Given the description of an element on the screen output the (x, y) to click on. 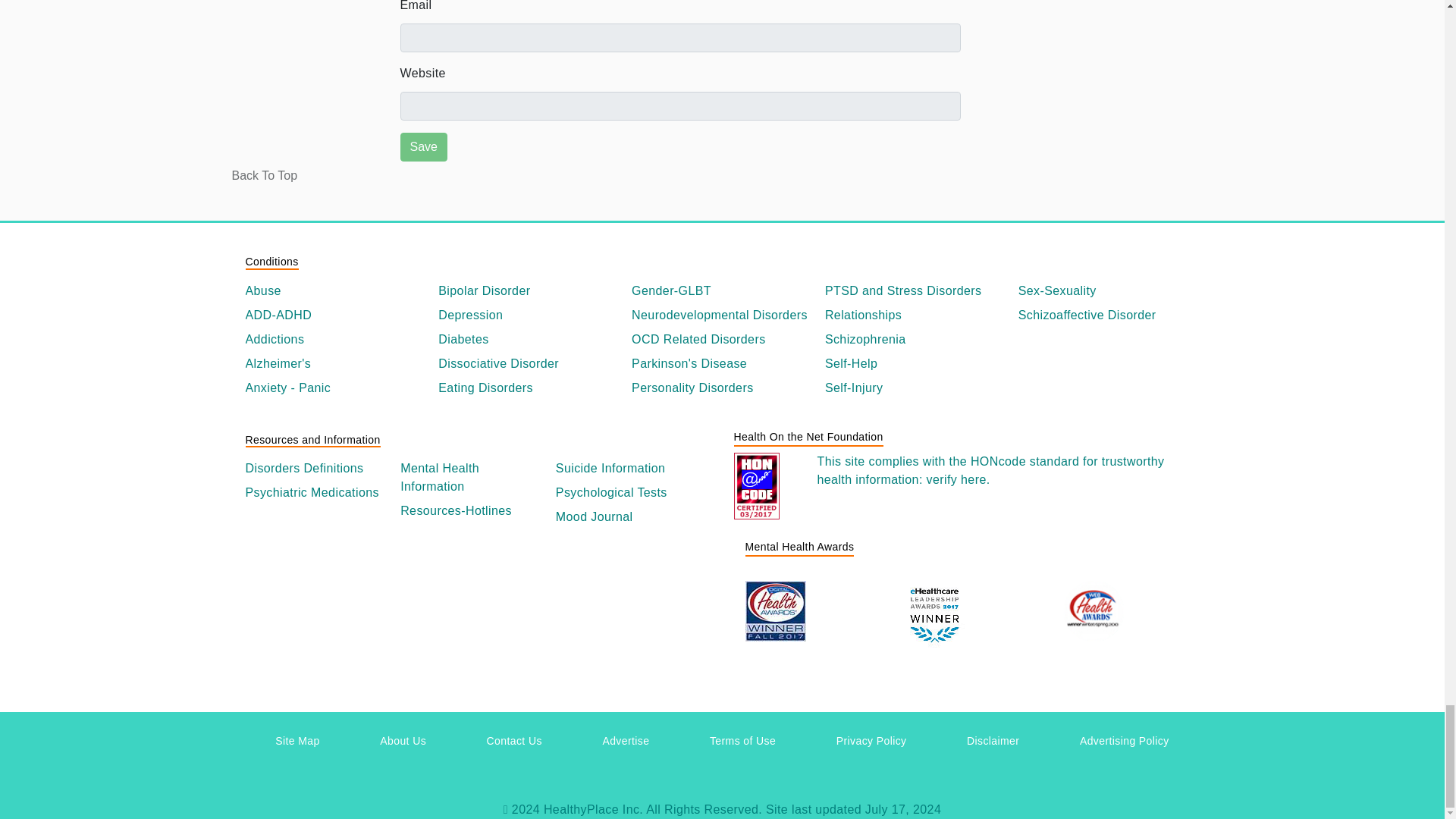
Parkinson's Disease Information Articles (721, 363)
